Given the description of an element on the screen output the (x, y) to click on. 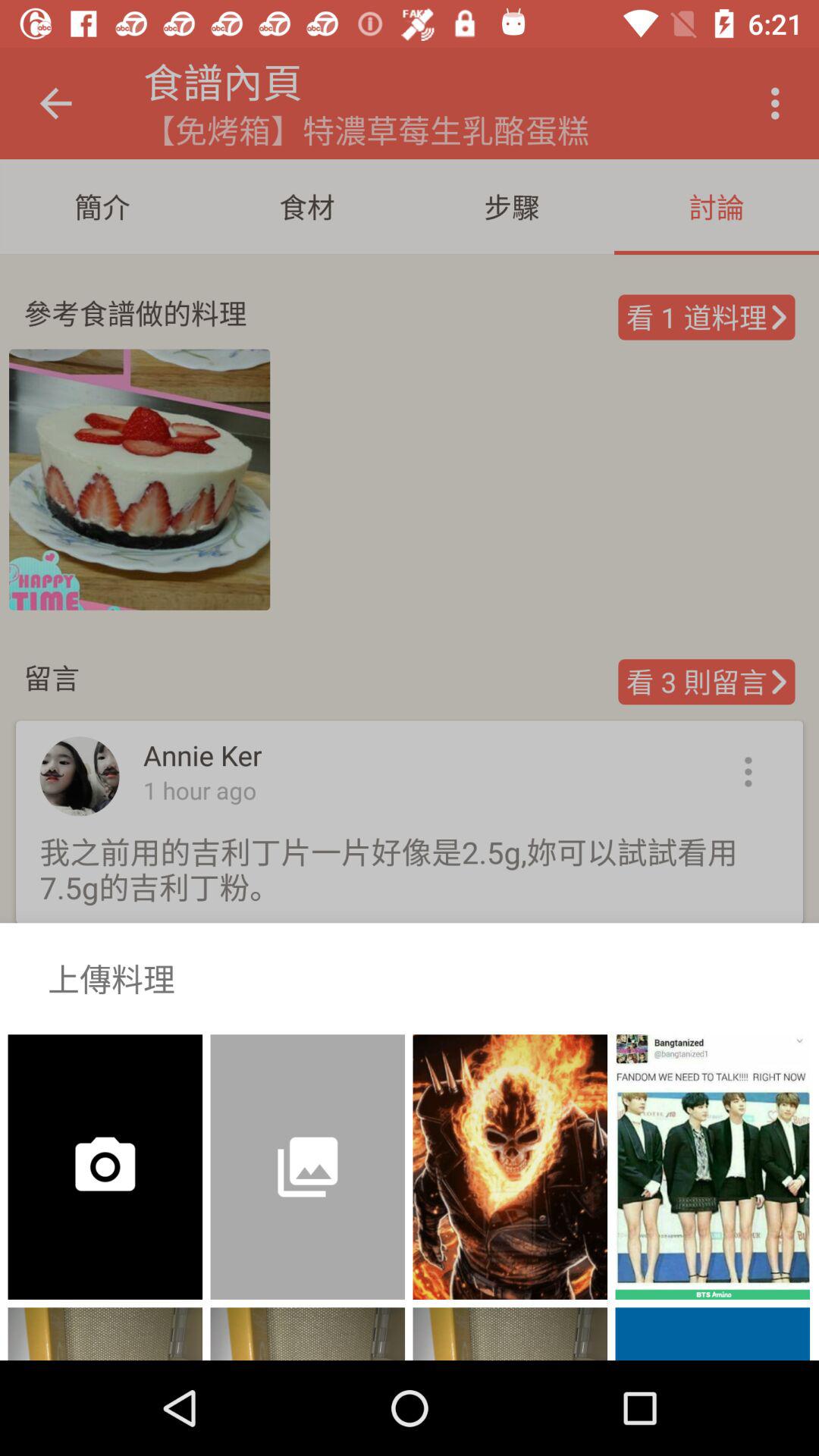
select the camera icon (79, 1155)
select the blue color below the page (712, 1333)
